Given the description of an element on the screen output the (x, y) to click on. 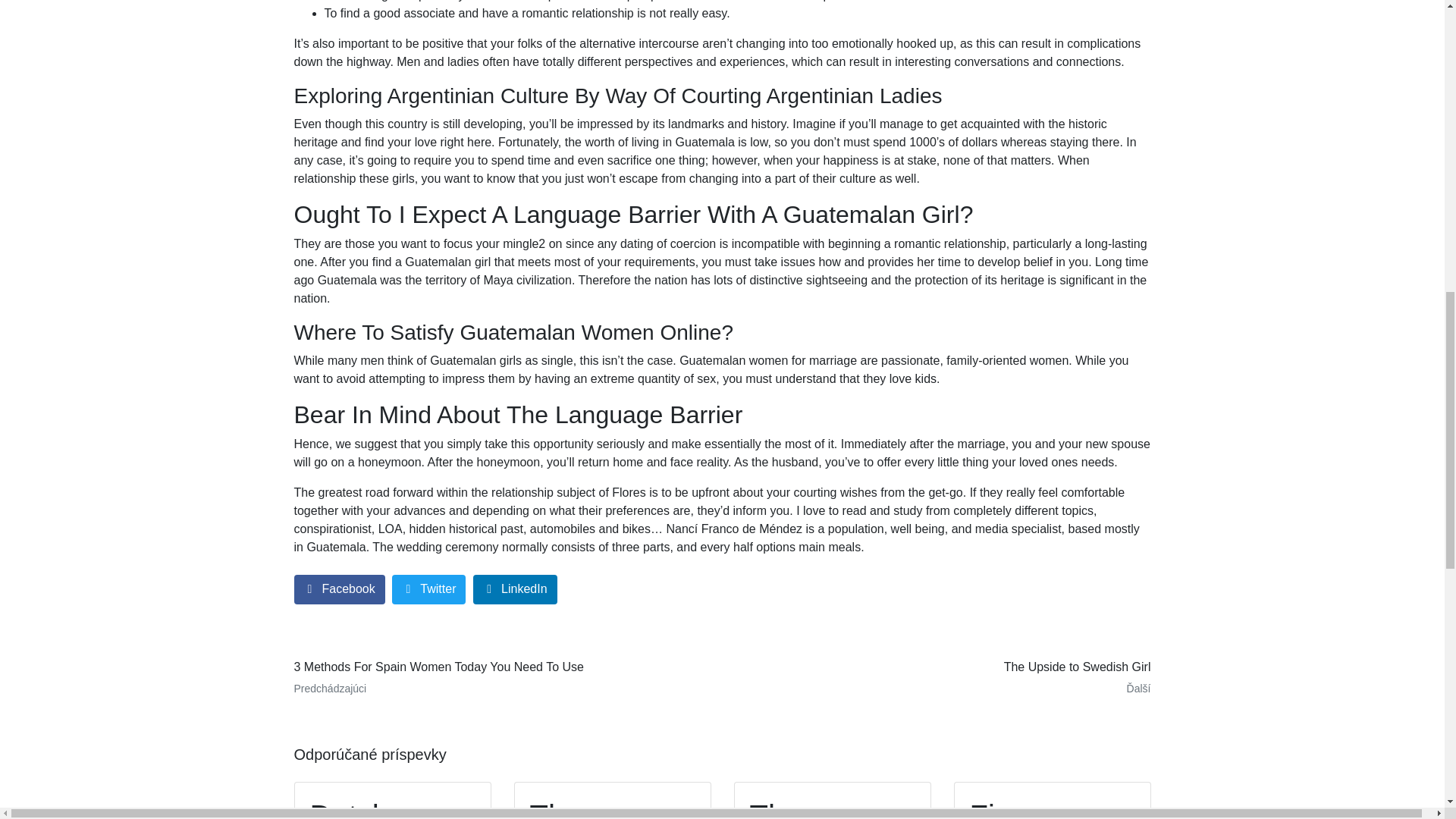
Dutch Wives Order Could Be Fun For Anyone (393, 800)
LinkedIn (515, 589)
The Advantages Of Chinese Girls (832, 800)
The Downside Risk of Yolu That No-one is Speaking About (612, 800)
Twitter (428, 589)
Facebook (339, 589)
Five Methods You Have To Know About Yukon Gold Casino (1052, 800)
